Given the description of an element on the screen output the (x, y) to click on. 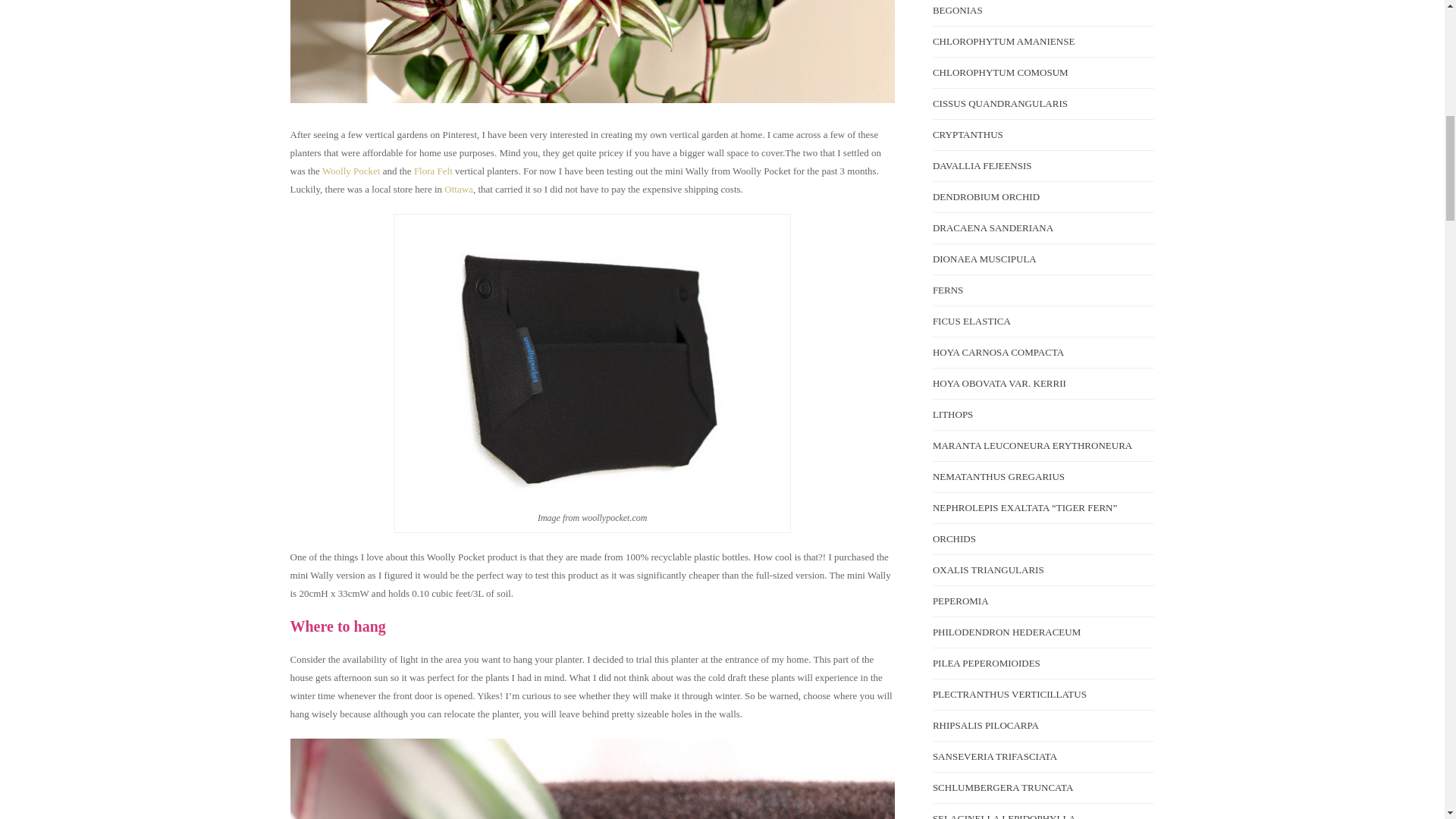
Flora Felt (433, 170)
Woolly Pocket (350, 170)
Ottawa (458, 188)
